Given the description of an element on the screen output the (x, y) to click on. 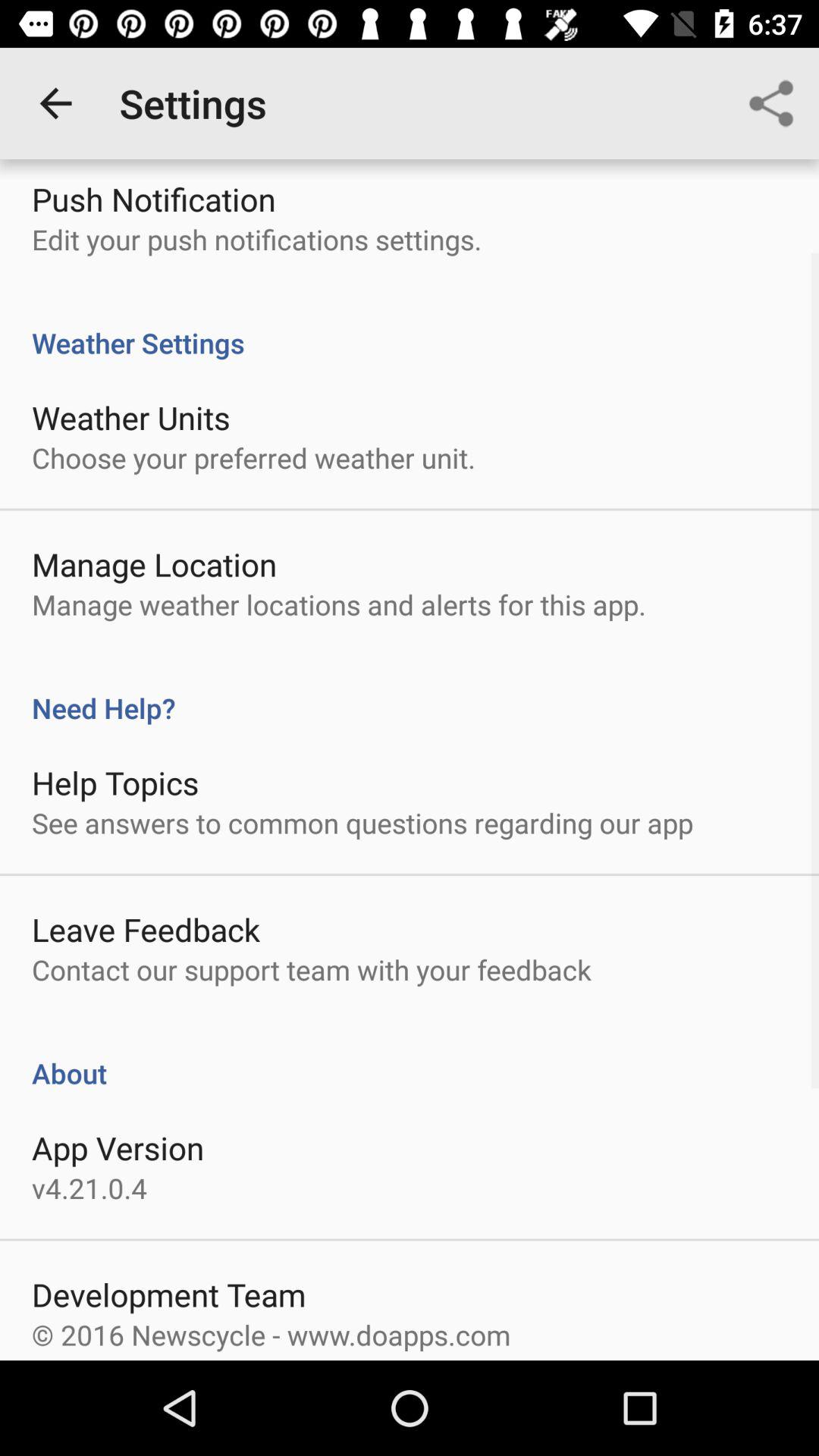
click the icon below app version item (89, 1187)
